Given the description of an element on the screen output the (x, y) to click on. 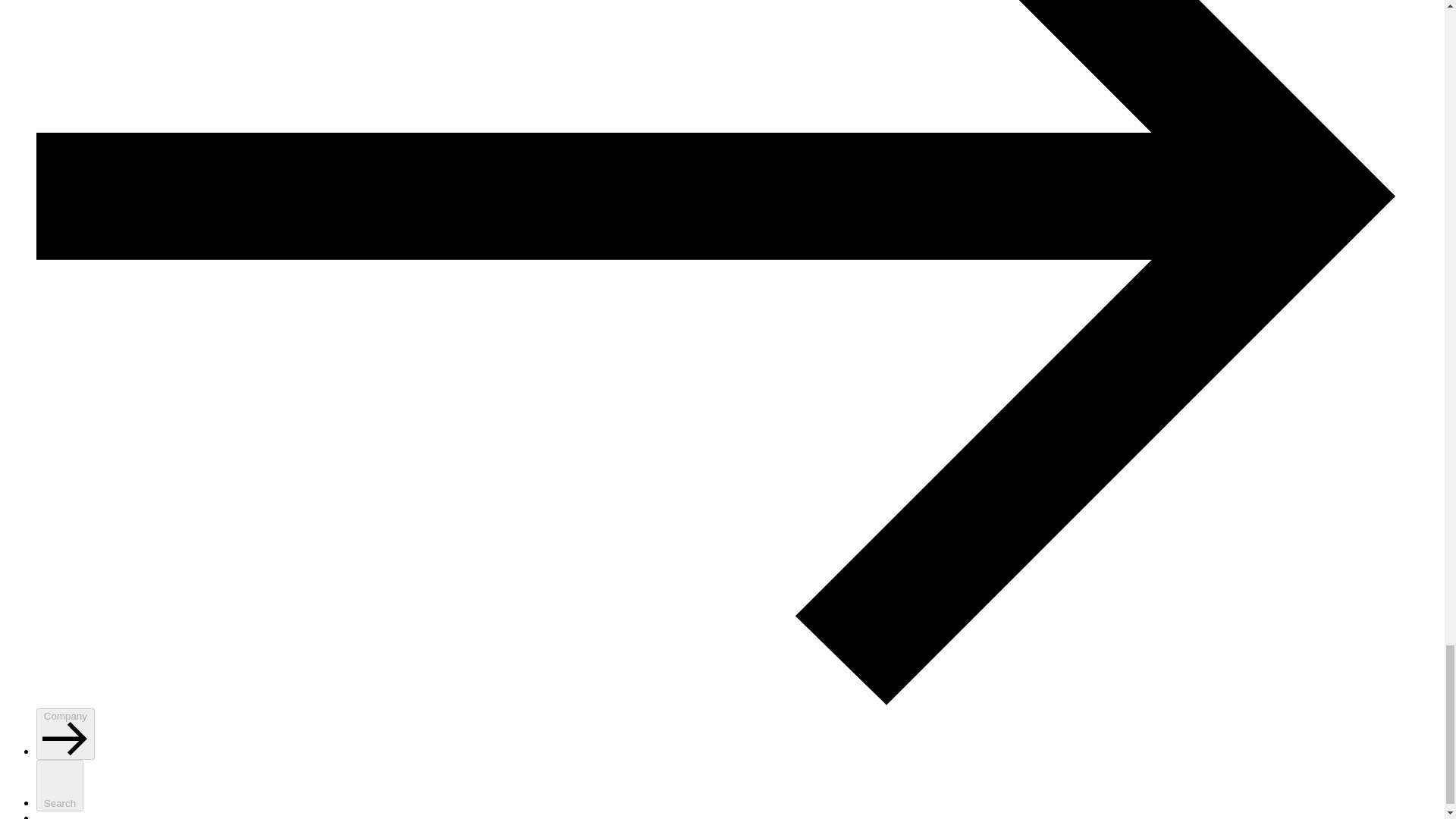
Company (65, 734)
Search (59, 785)
Search (59, 785)
